Given the description of an element on the screen output the (x, y) to click on. 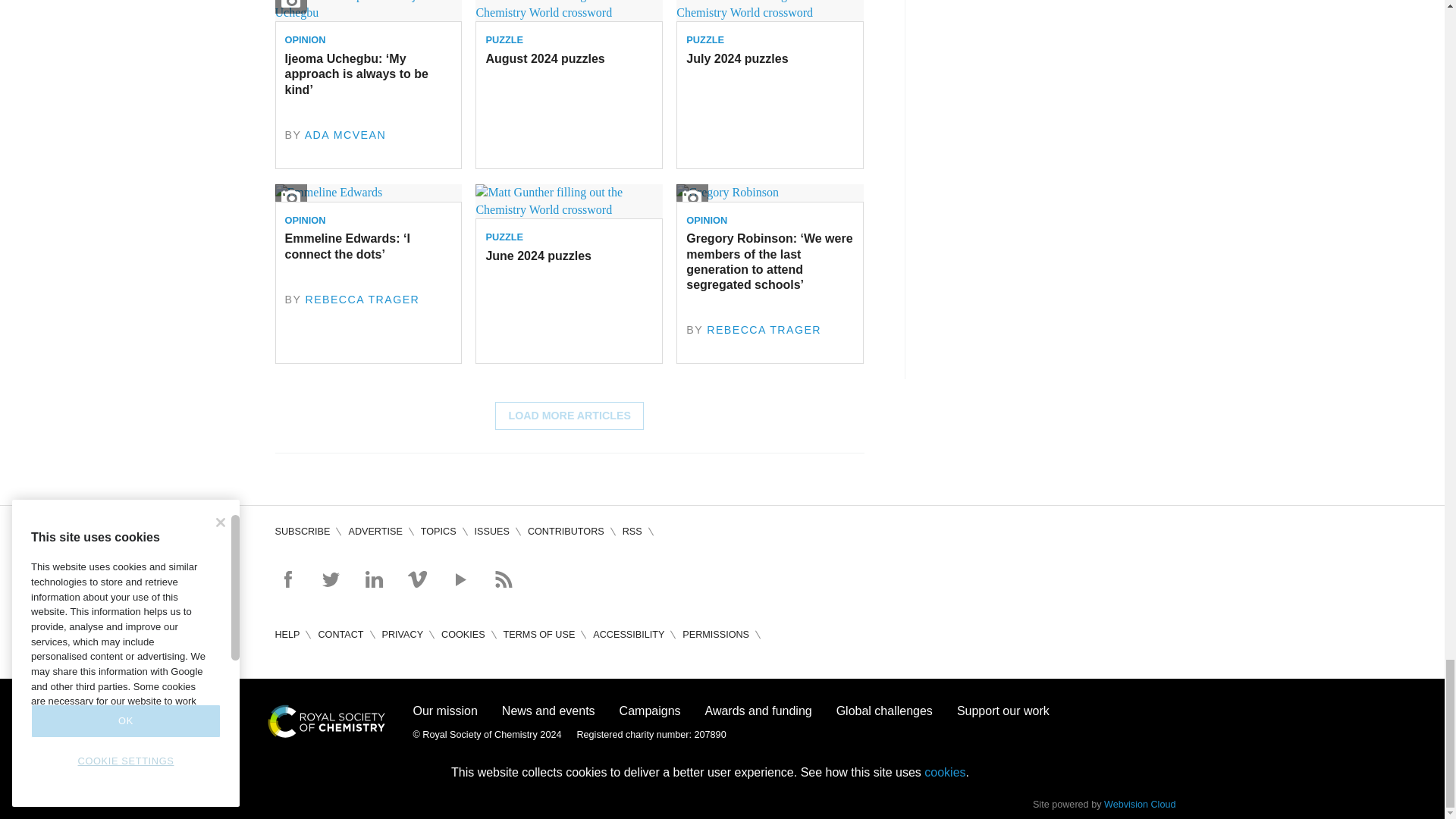
Follow on Facebook (287, 579)
Follow on Twitter (330, 579)
Connect on Linked in (373, 579)
